Given the description of an element on the screen output the (x, y) to click on. 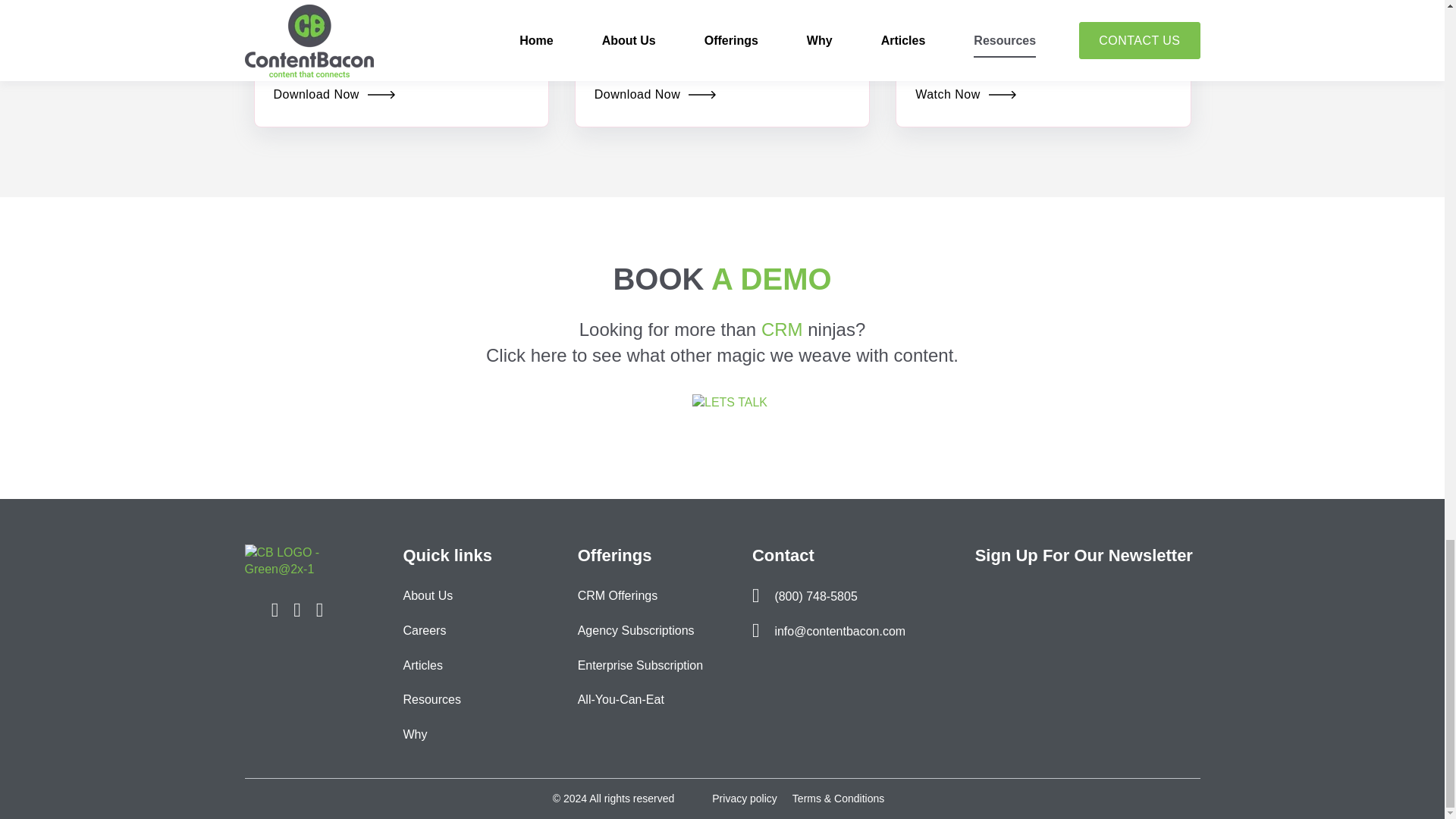
CRM Offerings (640, 595)
Agency Subscriptions (640, 630)
Enterprise Subscription (640, 665)
Resources (432, 699)
Download Now (333, 94)
Watch Now (964, 94)
About Us (432, 595)
Download Now (655, 94)
All-You-Can-Eat (640, 699)
Privacy policy (744, 798)
